Given the description of an element on the screen output the (x, y) to click on. 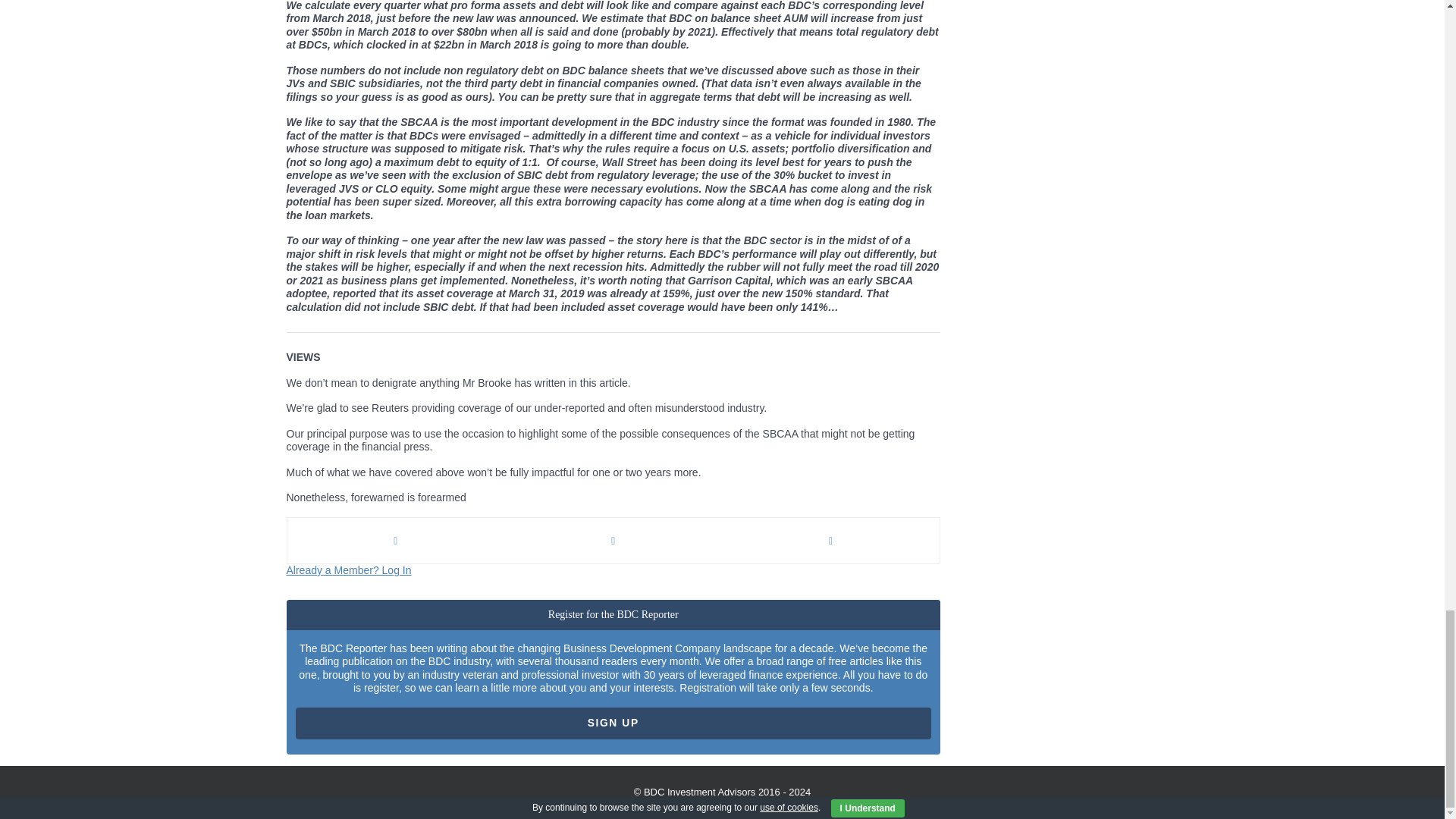
SIGN UP (613, 723)
Already a Member? Log In (349, 570)
